Given the description of an element on the screen output the (x, y) to click on. 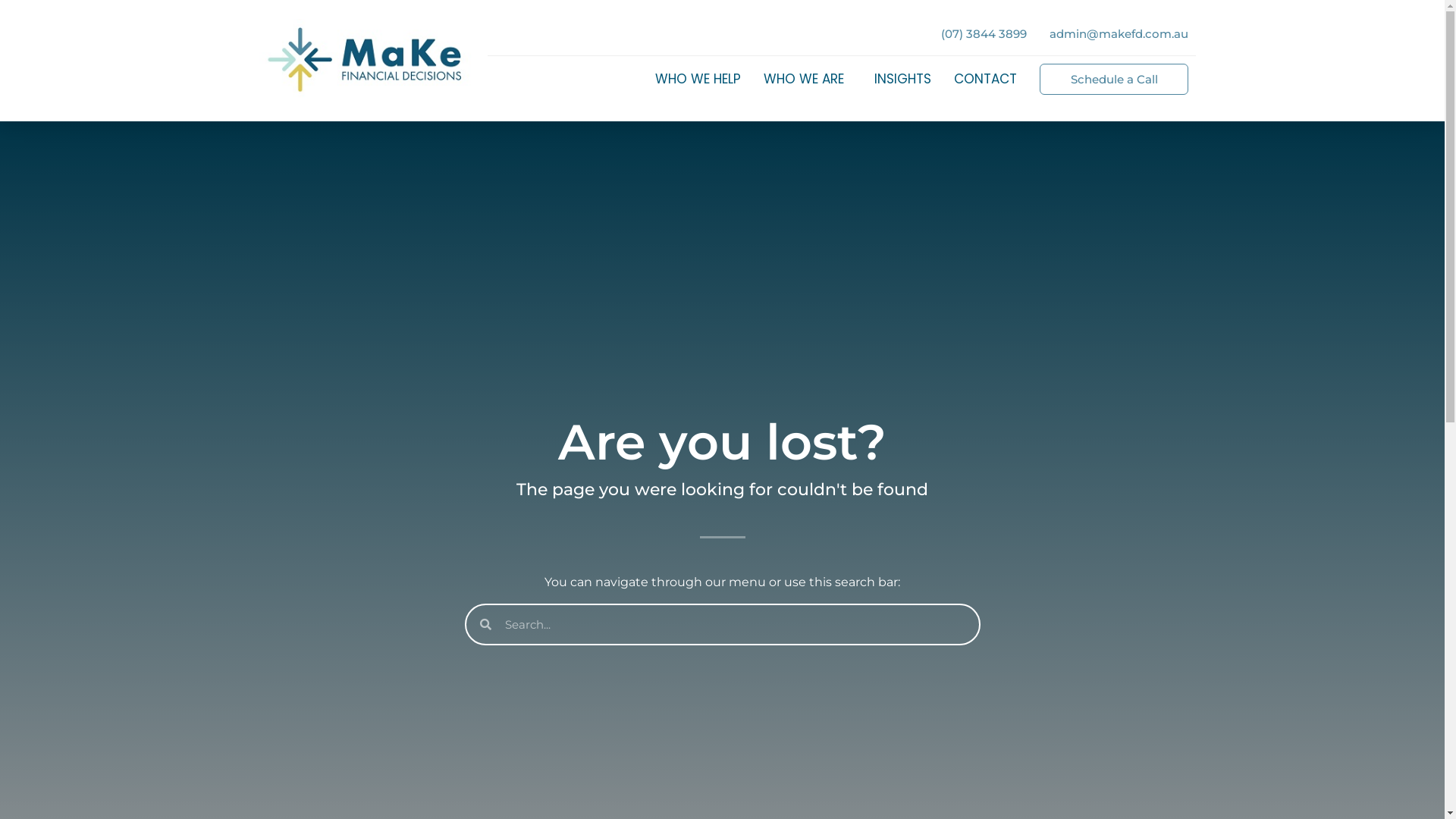
INSIGHTS Element type: text (902, 78)
(07) 3844 3899 Element type: text (983, 33)
CONTACT Element type: text (985, 78)
WHO WE ARE Element type: text (807, 78)
WHO WE HELP Element type: text (697, 78)
admin@makefd.com.au Element type: text (1118, 33)
Schedule a Call Element type: text (1113, 78)
